Given the description of an element on the screen output the (x, y) to click on. 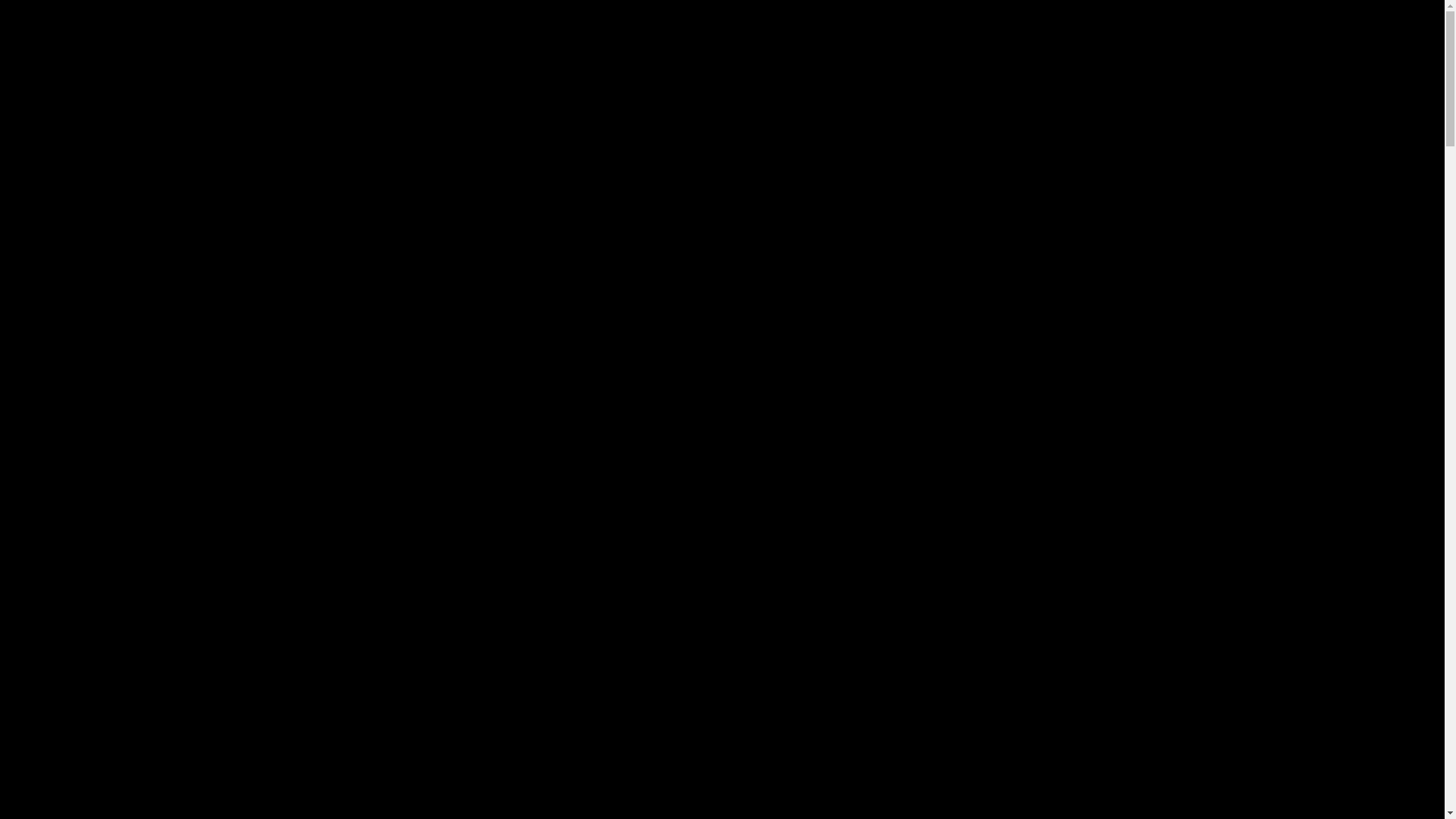
EN Element type: text (866, 737)
TERMES ET CONDITIONS Element type: text (866, 525)
MORE Element type: text (866, 312)
MEET Element type: text (866, 206)
ART Element type: text (866, 259)
NL Element type: text (866, 696)
COOKIE POLICY Element type: text (866, 631)
PRESS Element type: text (866, 365)
FR Element type: text (872, 778)
OVER ONS Element type: text (866, 419)
PRIVACY POLICY Element type: text (866, 578)
CONTACT Element type: text (866, 472)
